Given the description of an element on the screen output the (x, y) to click on. 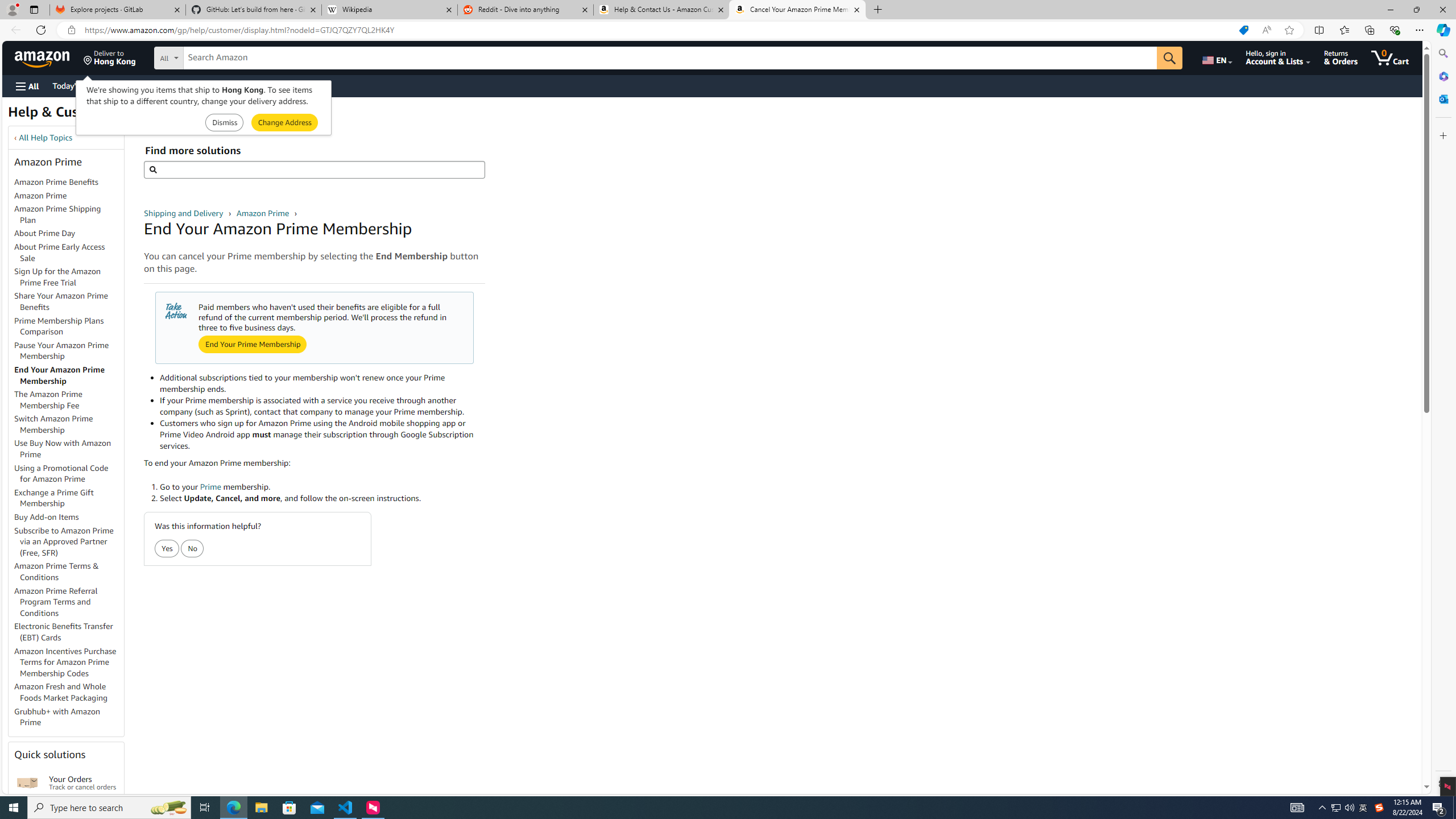
Open Menu (26, 86)
Your Orders (27, 782)
Amazon Prime (68, 196)
Your Orders Track or cancel orders (82, 782)
